Given the description of an element on the screen output the (x, y) to click on. 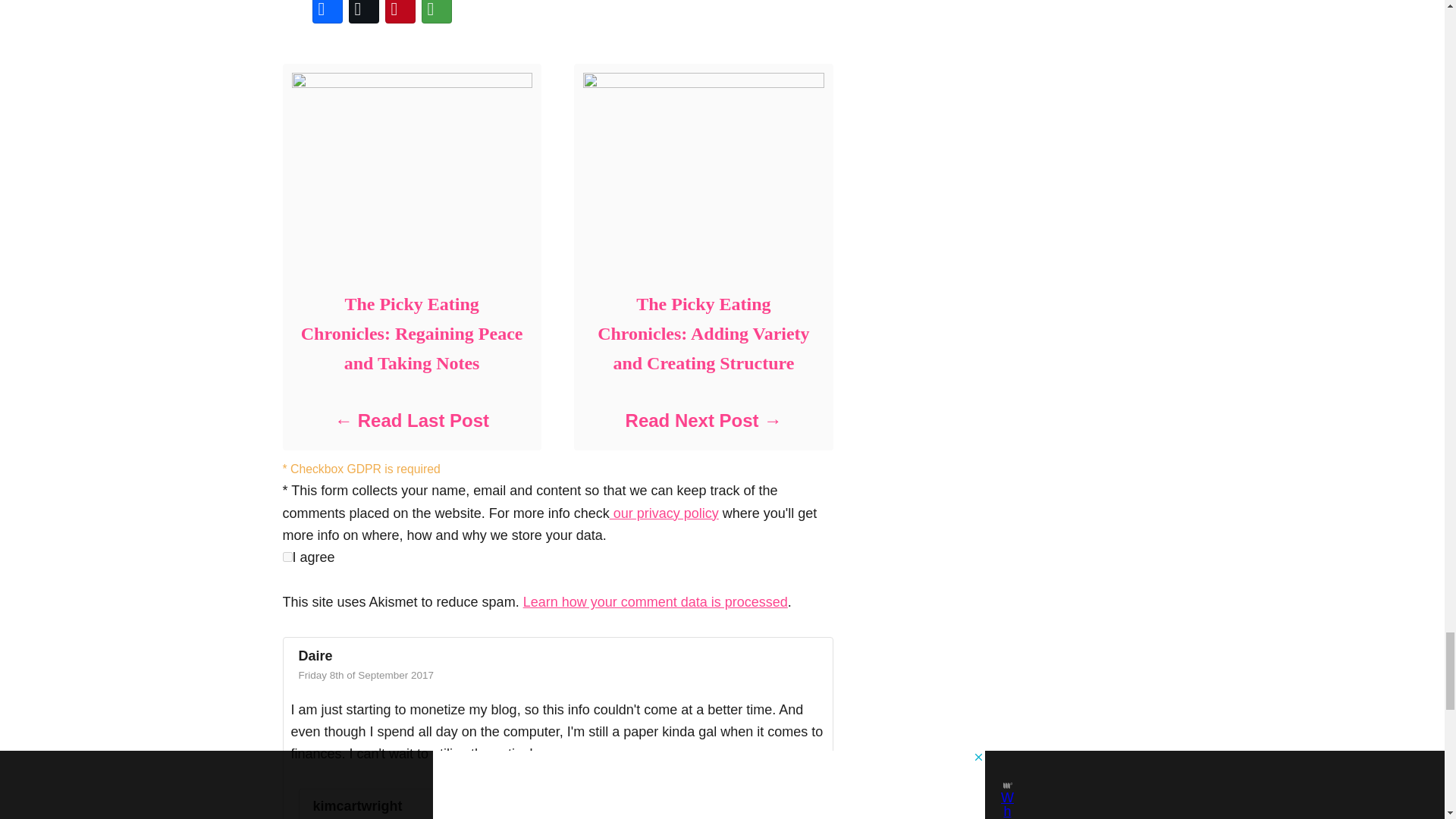
Pinterest (400, 13)
on (287, 556)
More Options (436, 13)
Facebook (327, 13)
